Given the description of an element on the screen output the (x, y) to click on. 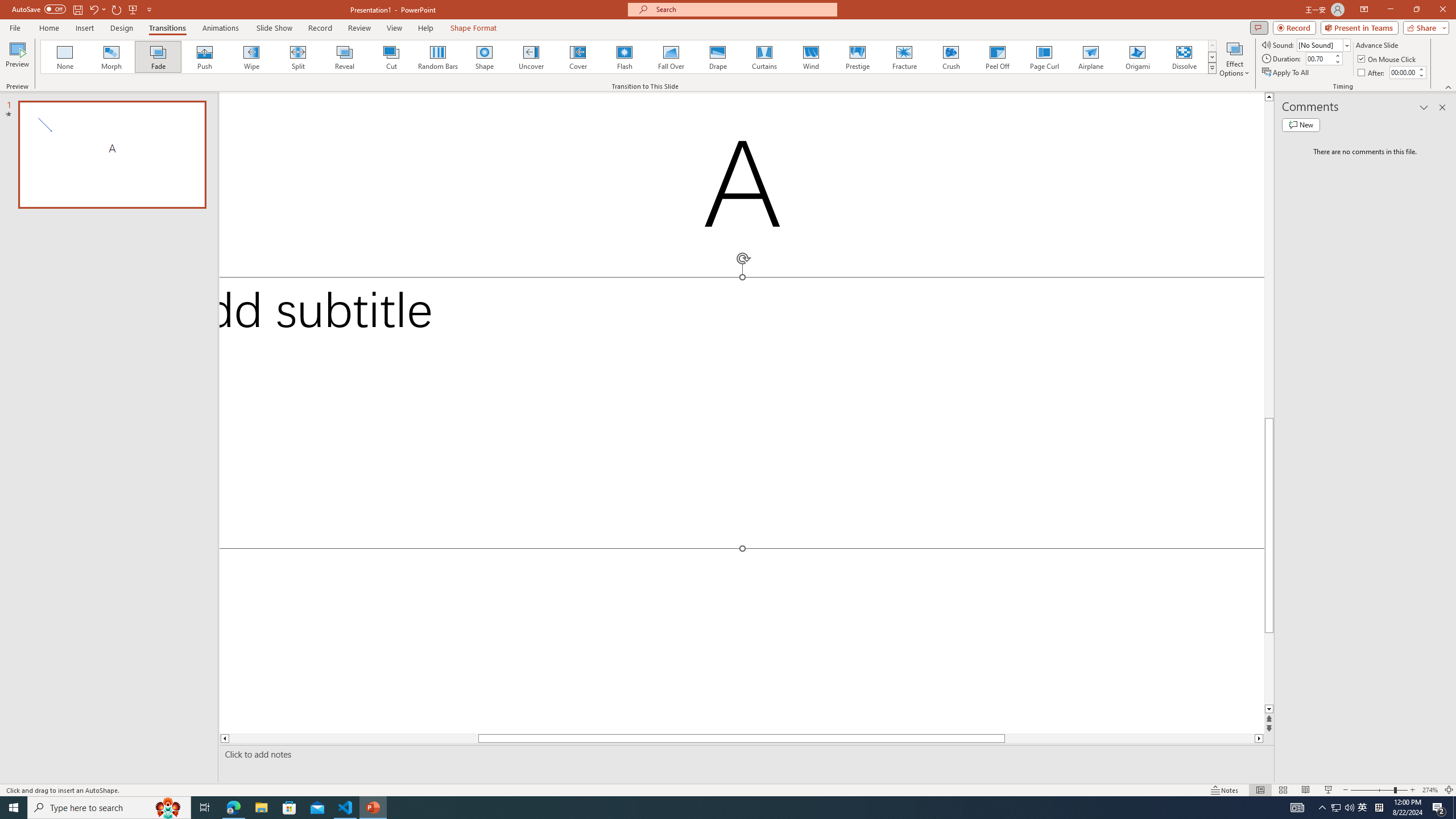
Morph (111, 56)
Fade (158, 56)
Airplane (1090, 56)
On Mouse Click (1387, 58)
Shape (484, 56)
